Given the description of an element on the screen output the (x, y) to click on. 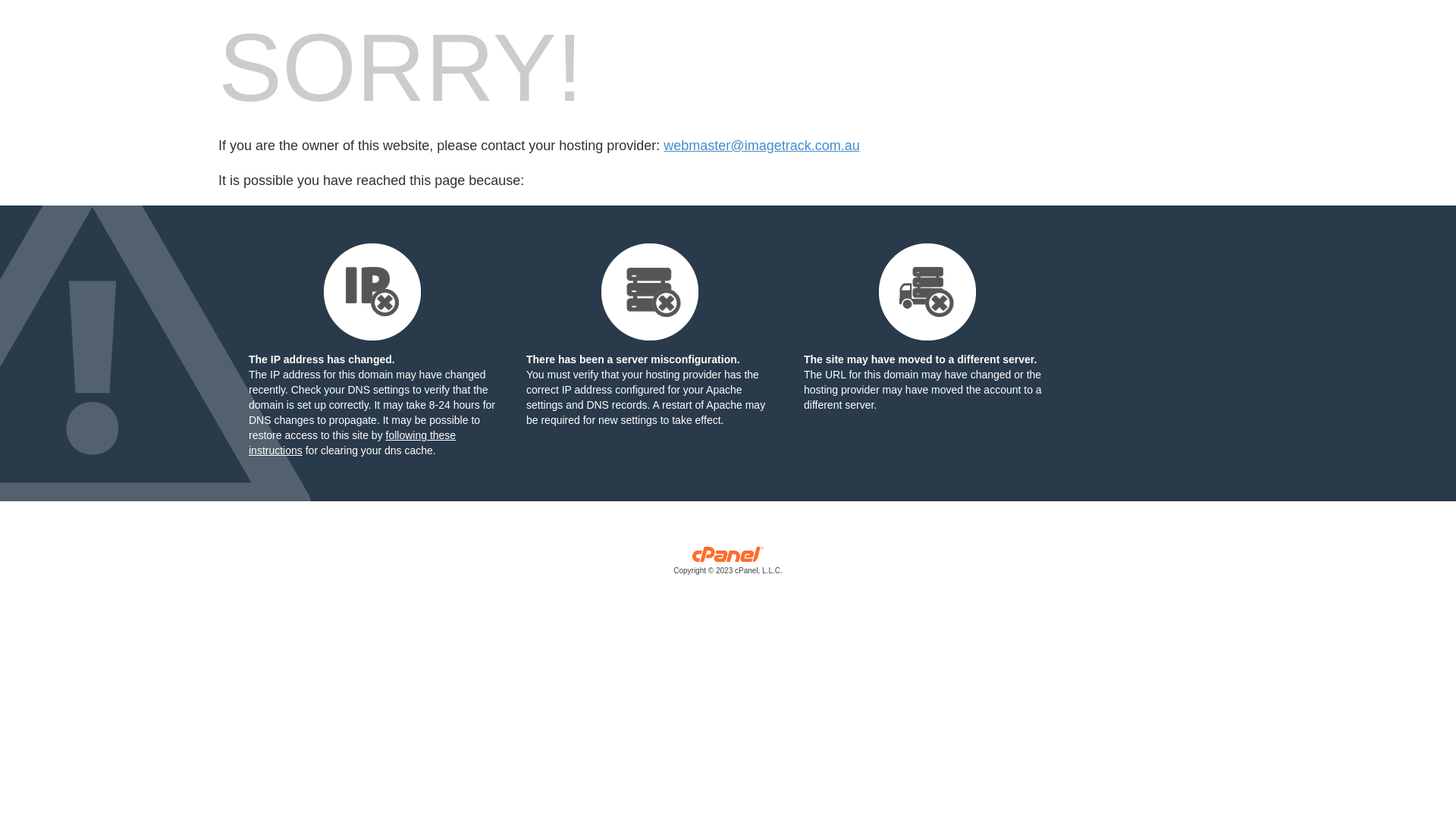
following these instructions Element type: text (351, 442)
webmaster@imagetrack.com.au Element type: text (761, 145)
